Given the description of an element on the screen output the (x, y) to click on. 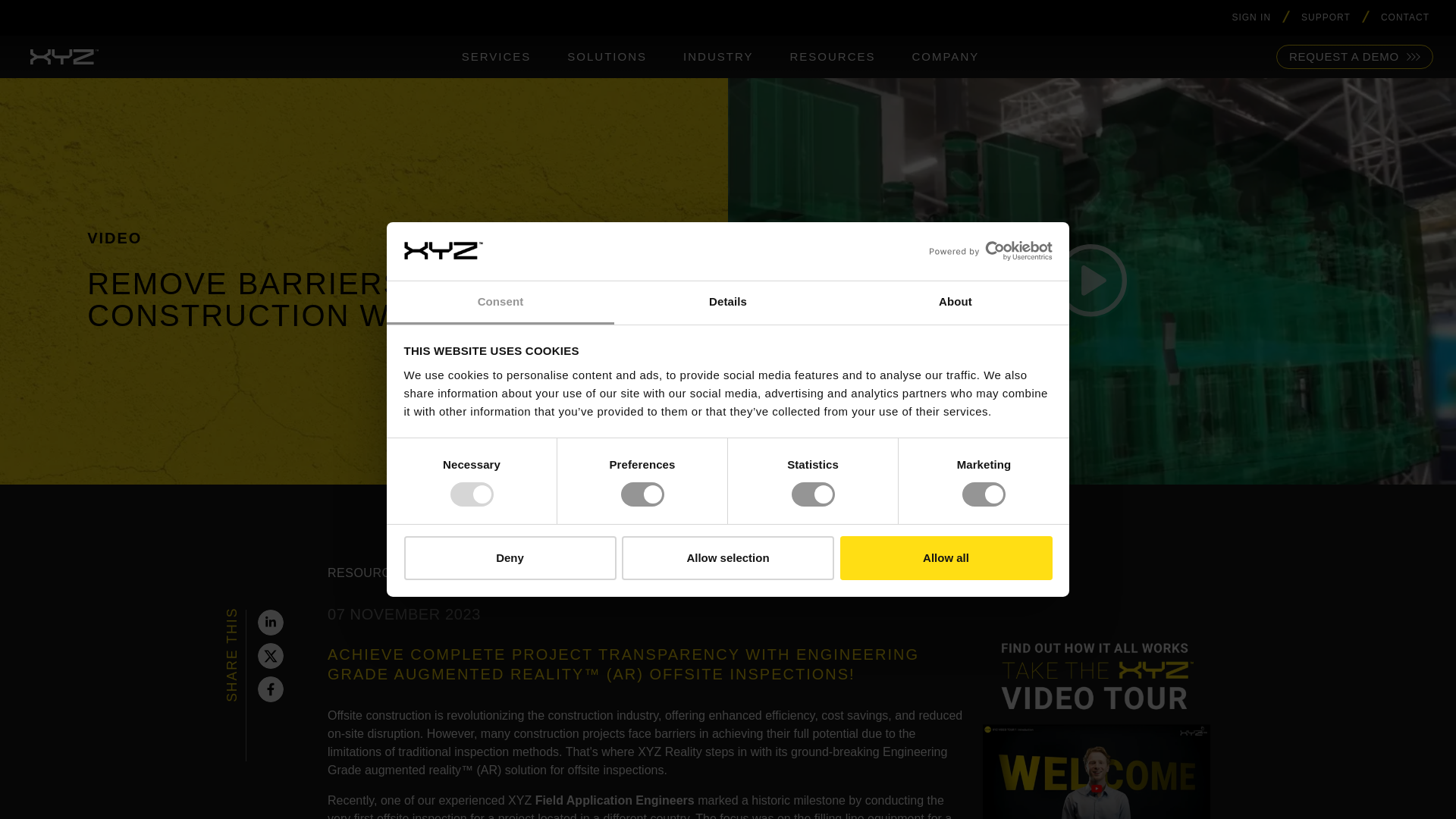
Consent (500, 302)
About (954, 302)
Details (727, 302)
on (939, 571)
